Given the description of an element on the screen output the (x, y) to click on. 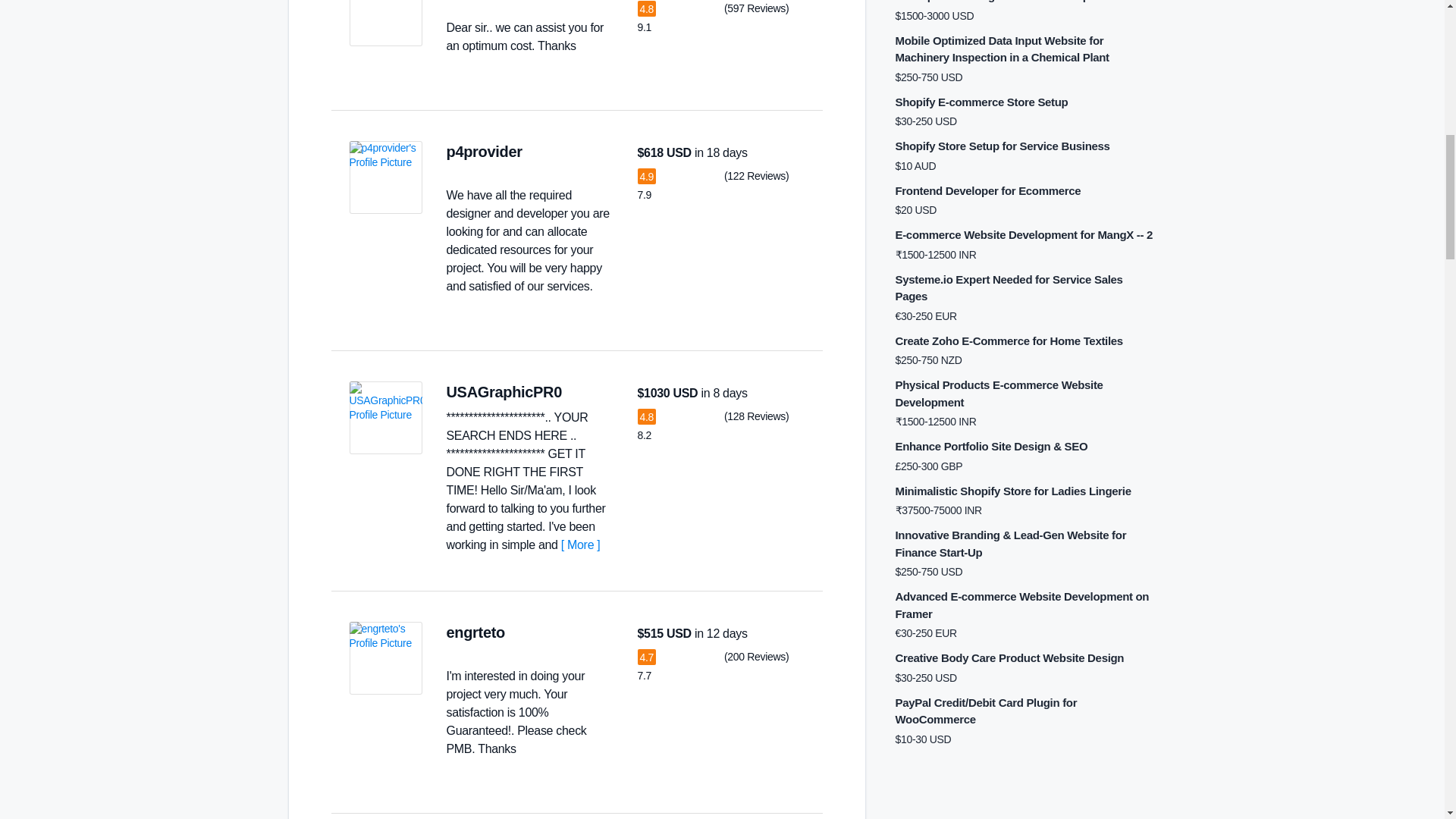
View engrteto's Profile (385, 657)
engrteto (474, 632)
Bangladesh (520, 633)
USAGraphicPR0 (503, 392)
View graphicaa's Profile (385, 22)
More (579, 544)
View USAGraphicPR0's Profile (385, 417)
p4provider (483, 151)
United States (577, 392)
View p4provider's Profile (385, 176)
